Given the description of an element on the screen output the (x, y) to click on. 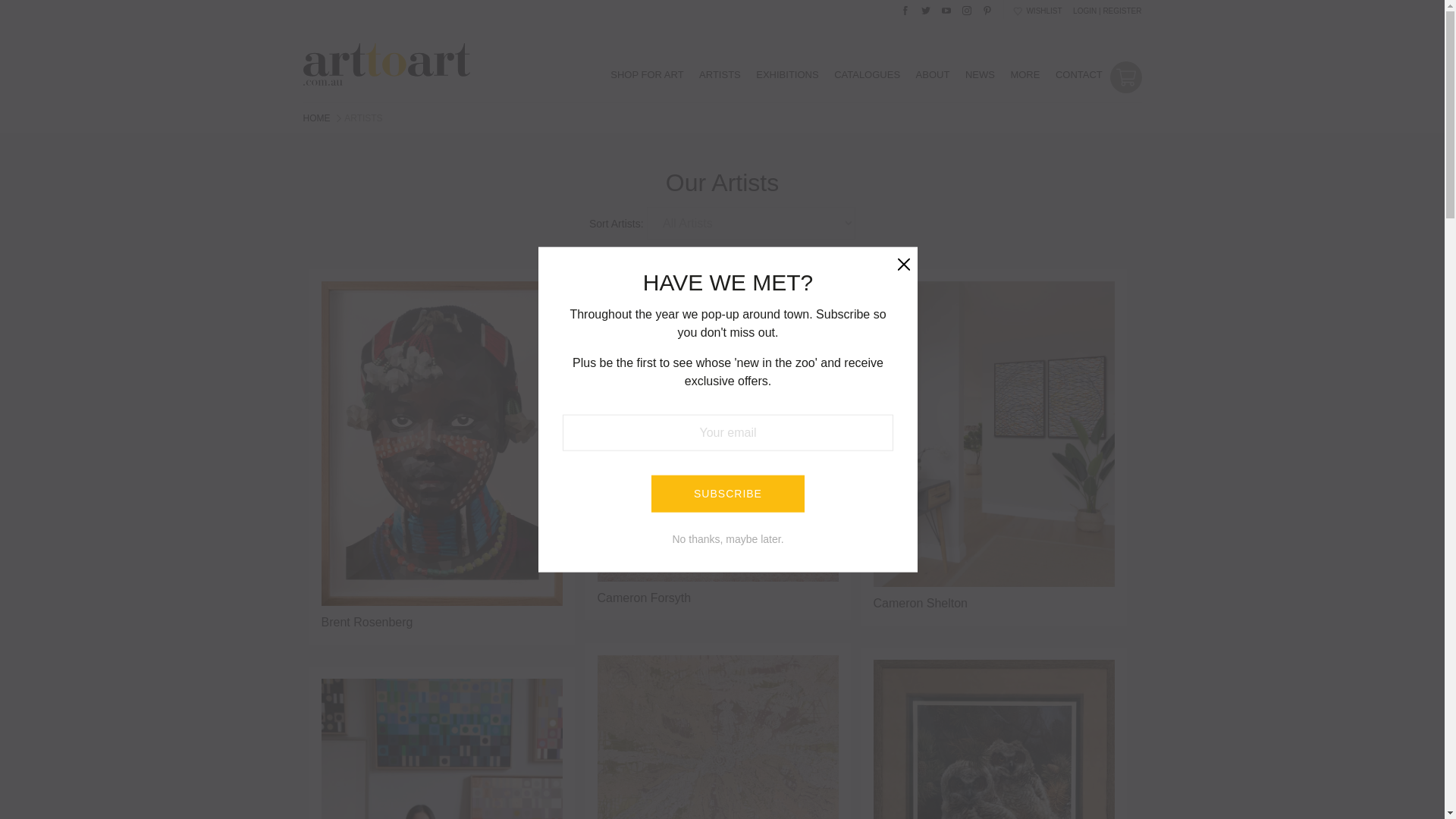
WISHLIST (1037, 11)
Chat (1406, 779)
Like us on Pinterest (986, 8)
ARTISTS (719, 74)
Like us on Facebook (905, 8)
SHOP FOR ART (647, 74)
Like us on Twitter (925, 8)
Like us on Instagram (966, 8)
Like us on YouTube (946, 8)
